Given the description of an element on the screen output the (x, y) to click on. 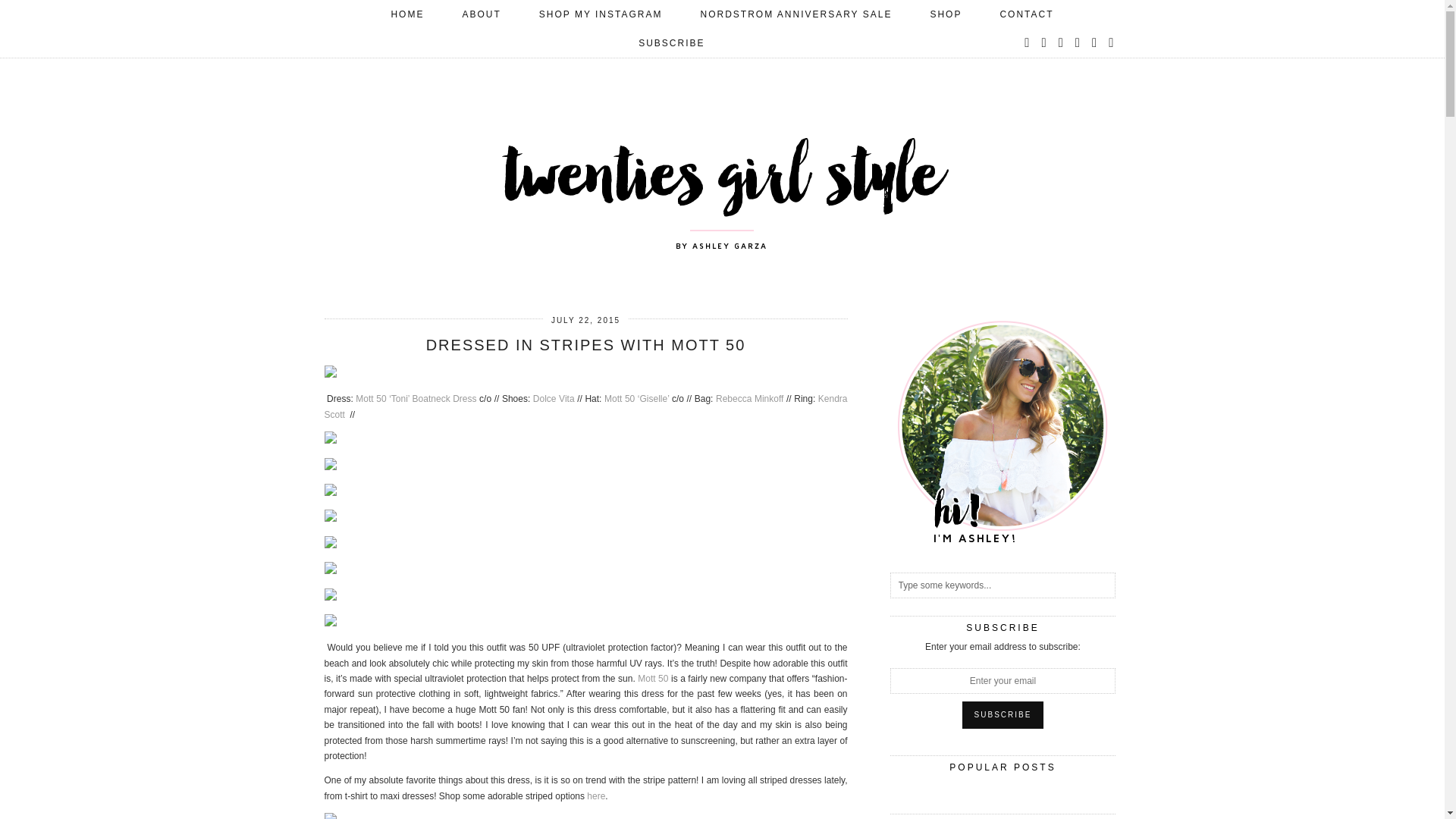
Subscribe (1002, 714)
ABOUT (480, 14)
SHOP (945, 14)
twitter (1027, 42)
NORDSTROM ANNIVERSARY SALE (796, 14)
instagram (1043, 42)
SHOP MY INSTAGRAM (600, 14)
HOME (406, 14)
SUBSCRIBE (671, 42)
facebook (1061, 42)
CONTACT (1025, 14)
